Given the description of an element on the screen output the (x, y) to click on. 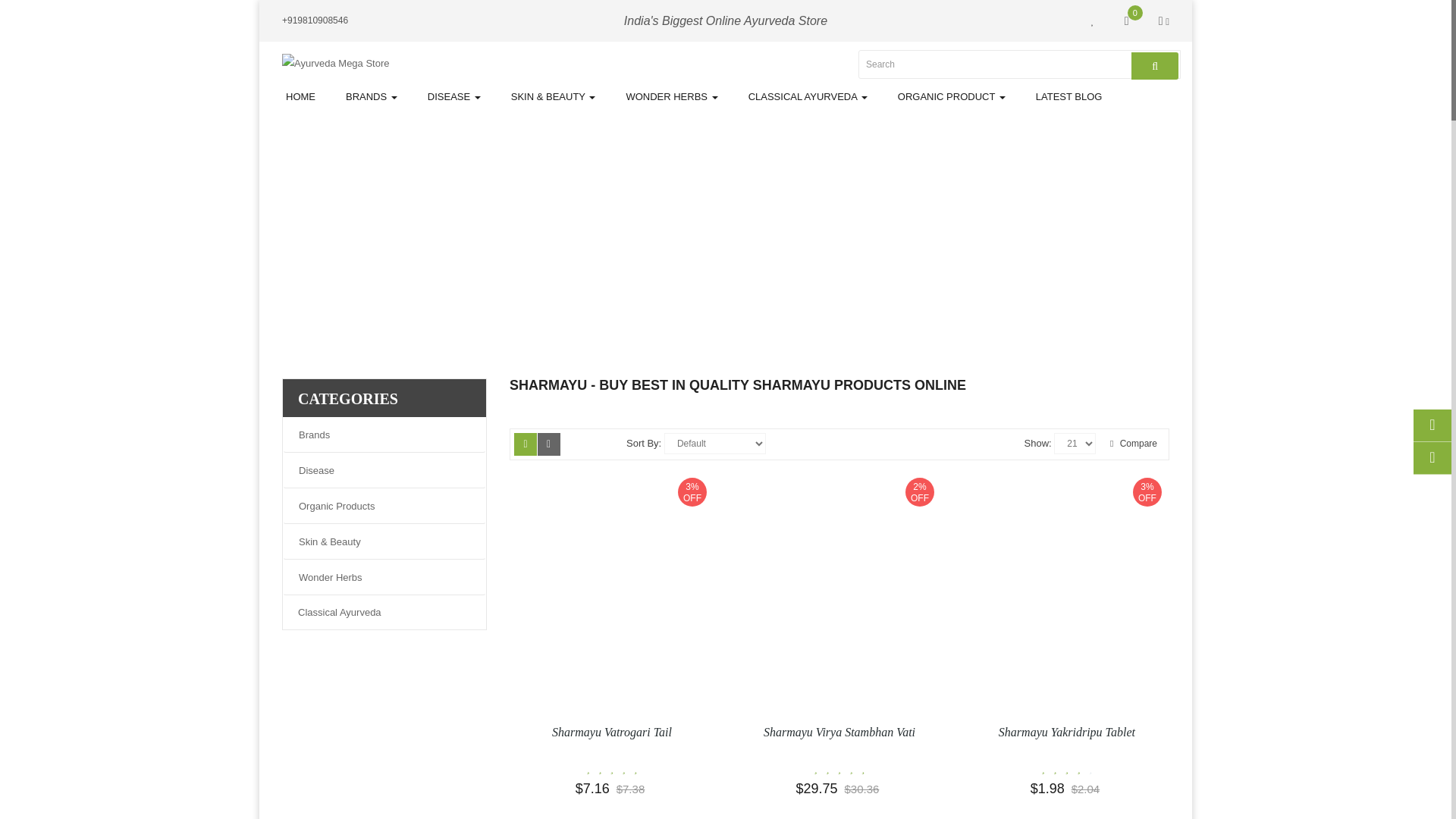
Sharmayu Vatrogari Tail (611, 591)
HOME (300, 96)
Grid (525, 444)
Ayurveda Mega Store (336, 63)
Sharmayu Virya Stambhan Vati (839, 591)
List (548, 444)
Sharmayu Yakridripu Tablet (1066, 591)
BRANDS (371, 96)
